Given the description of an element on the screen output the (x, y) to click on. 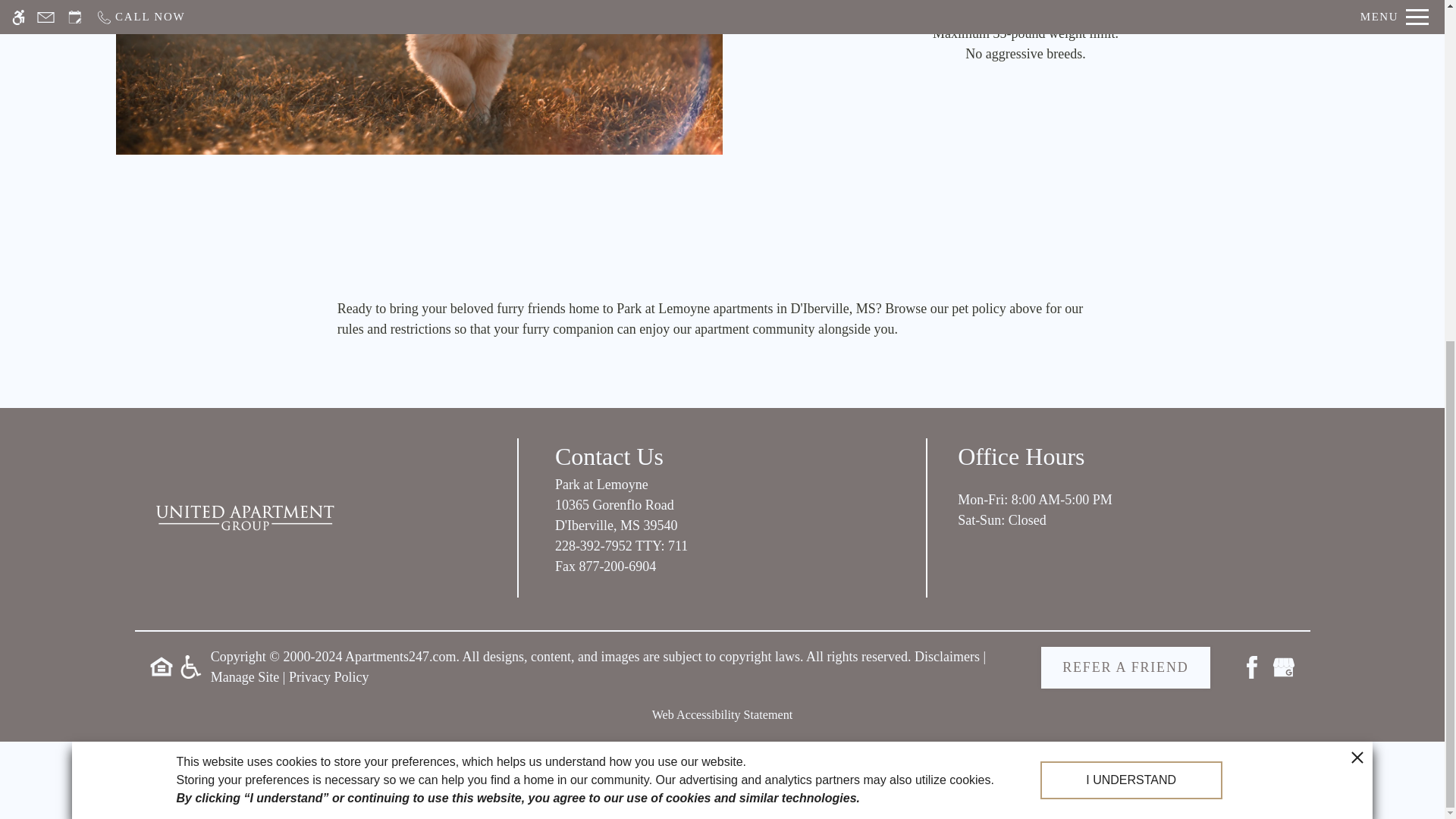
eho policy (161, 666)
United Apartment Group (244, 517)
Edit Webiste Content (245, 676)
